Given the description of an element on the screen output the (x, y) to click on. 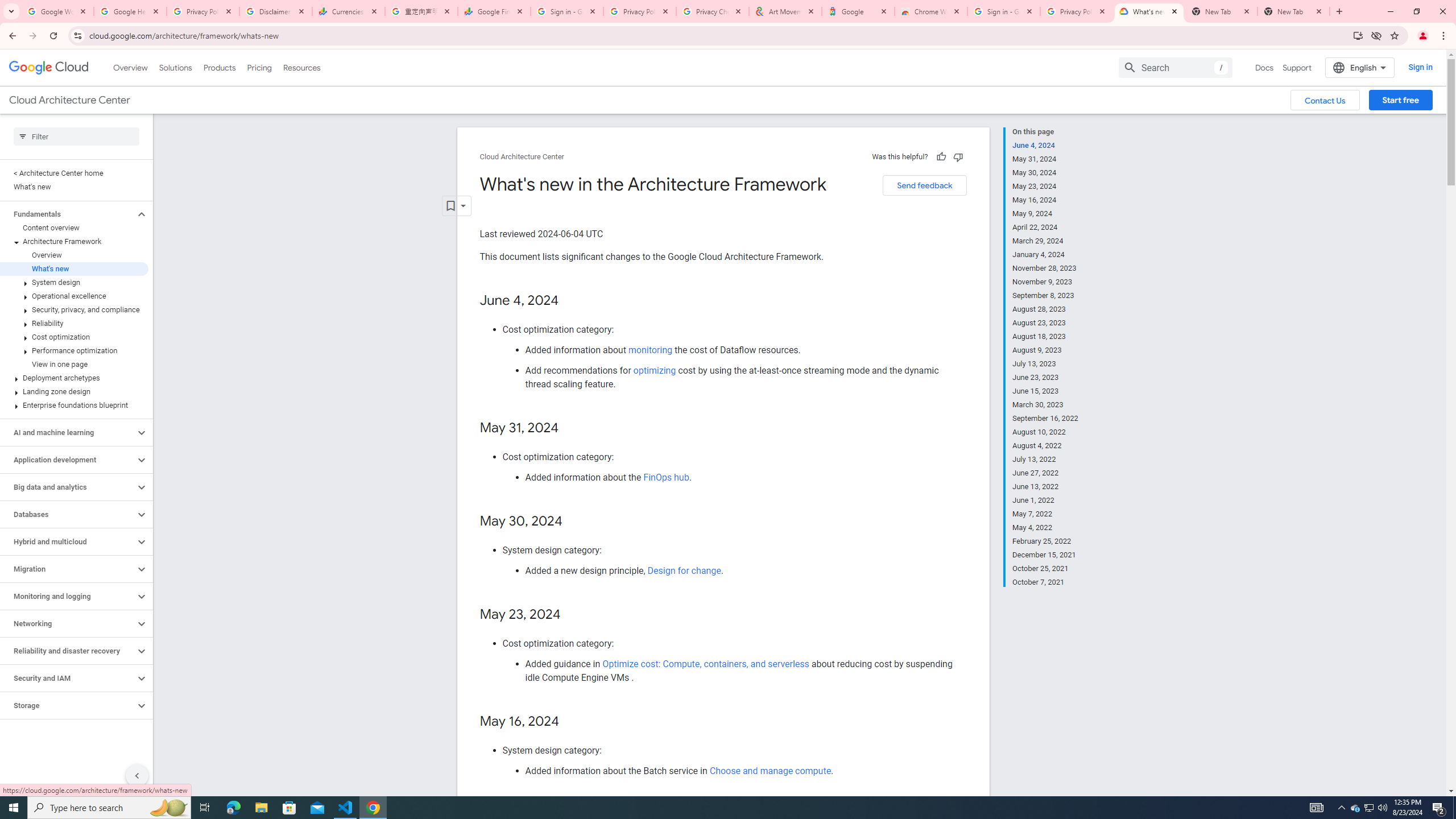
Not helpful (957, 156)
What's new (74, 269)
Content overview (74, 228)
AI and machine learning (67, 432)
Migration (67, 568)
March 30, 2023 (1044, 404)
Helpful (940, 156)
August 10, 2022 (1044, 431)
Sign in - Google Accounts (566, 11)
< Architecture Center home (74, 173)
Google (857, 11)
Operational excellence (74, 296)
